Given the description of an element on the screen output the (x, y) to click on. 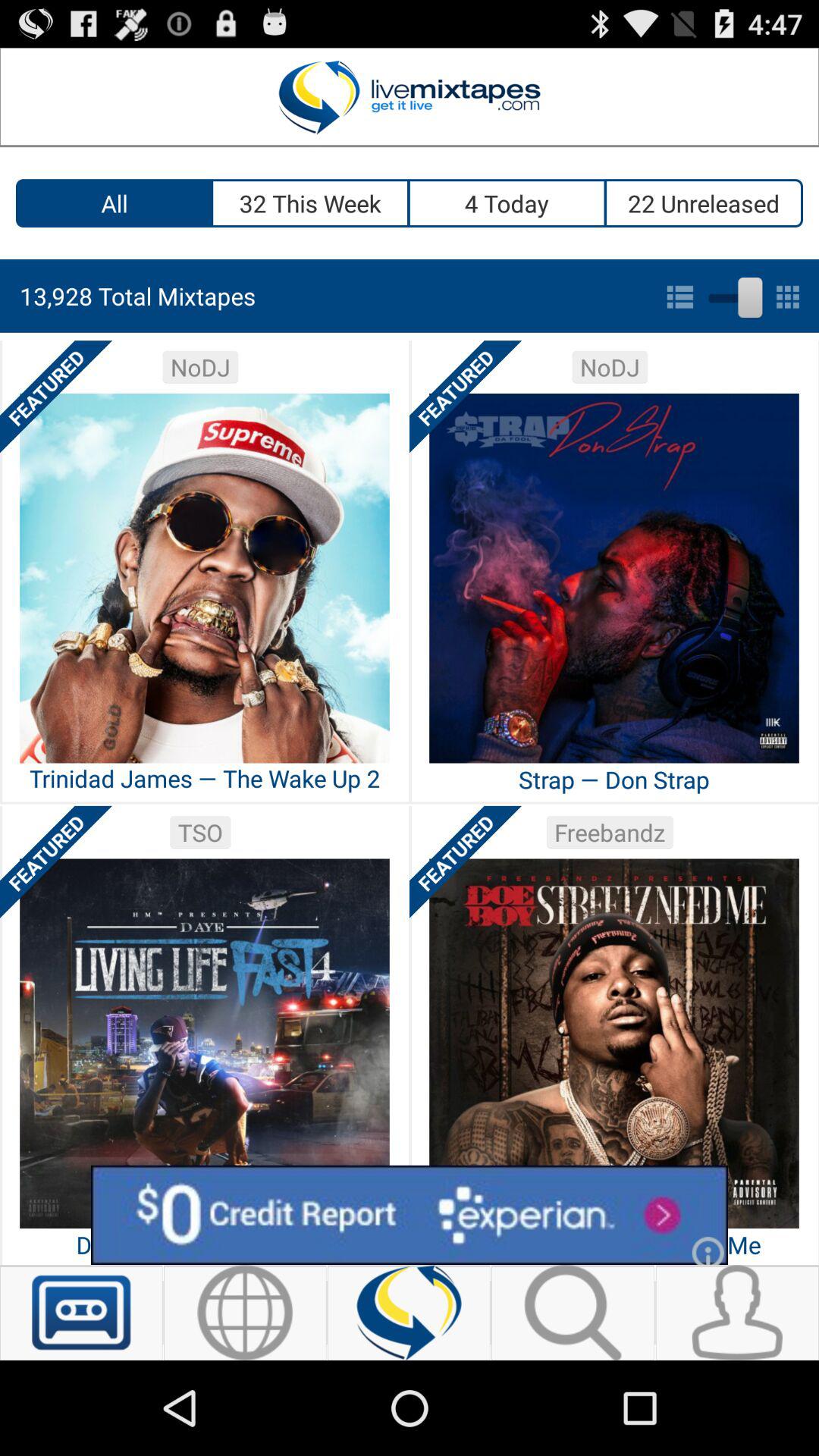
togle grid or list view (733, 294)
